Given the description of an element on the screen output the (x, y) to click on. 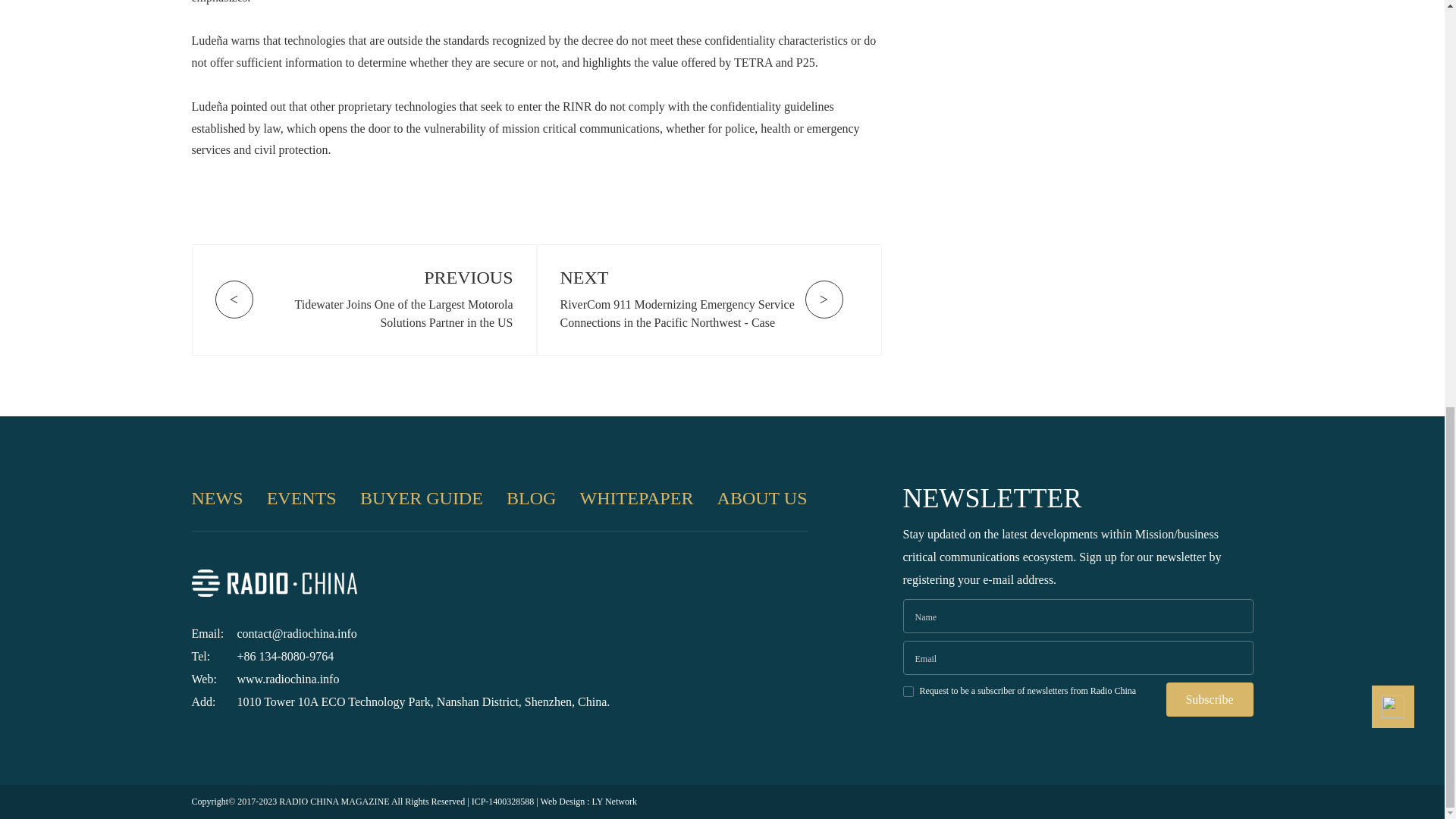
BLOG (531, 497)
Subscribe (1209, 699)
WHITEPAPER (636, 497)
BUYER GUIDE (421, 497)
Web Design (562, 801)
Subscribe (1209, 699)
ABOUT US (762, 497)
LY Network (614, 801)
EVENTS (301, 497)
NEWS (216, 497)
